Given the description of an element on the screen output the (x, y) to click on. 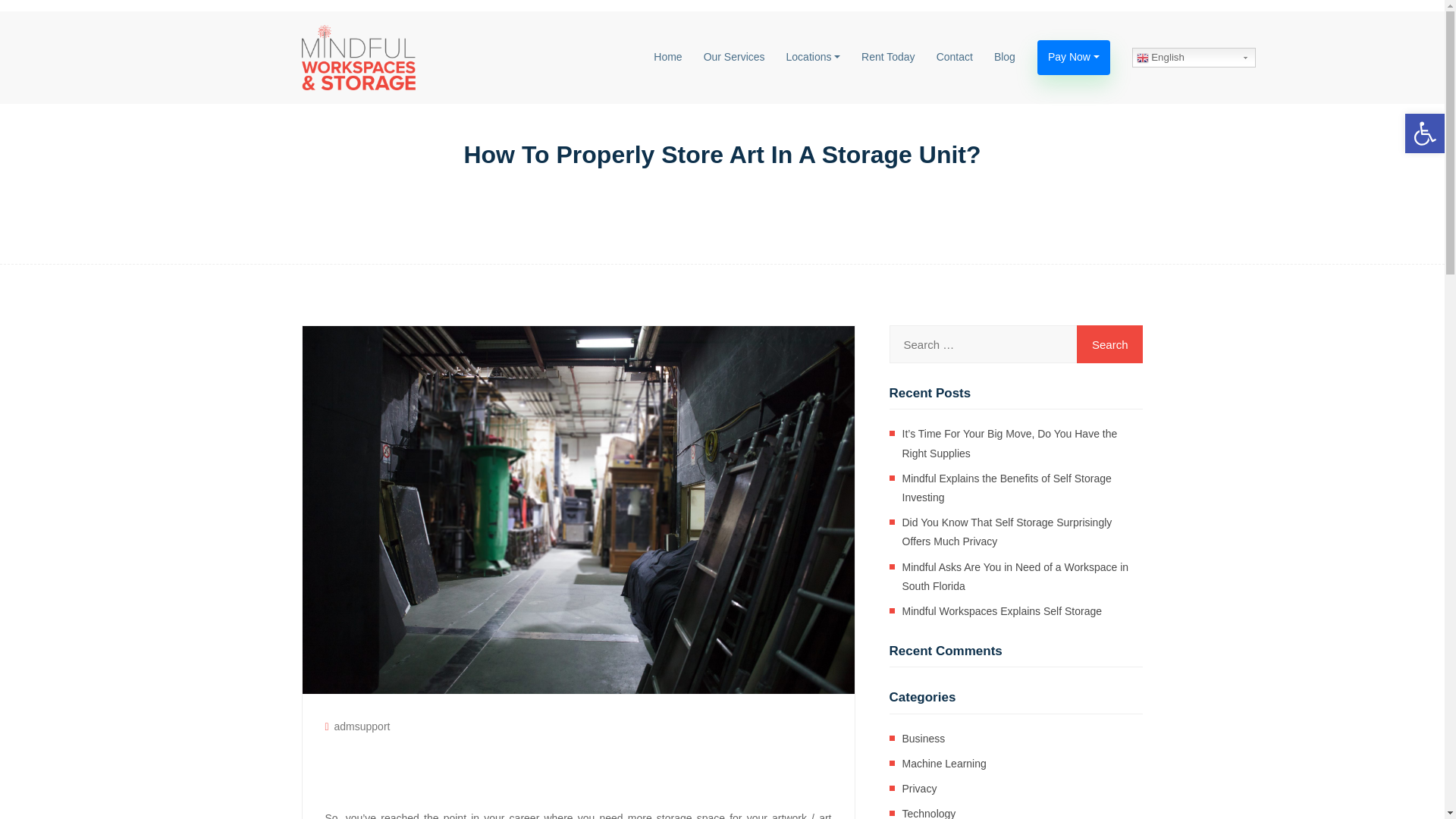
Locations (813, 57)
Search (1109, 344)
Our Services (734, 57)
Search (1109, 344)
Locations (813, 57)
Our Services (734, 57)
